Given the description of an element on the screen output the (x, y) to click on. 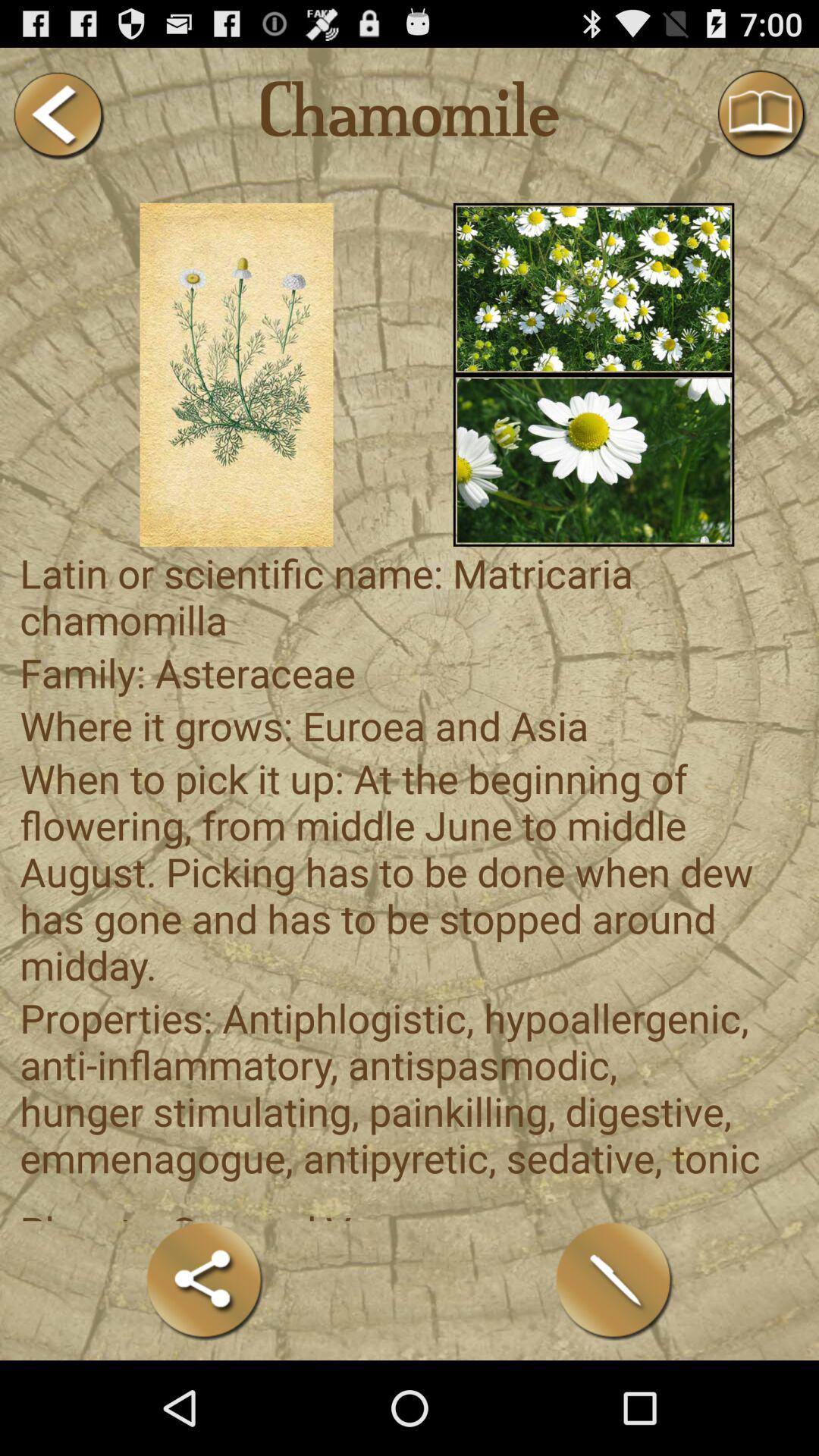
select photo (593, 460)
